Given the description of an element on the screen output the (x, y) to click on. 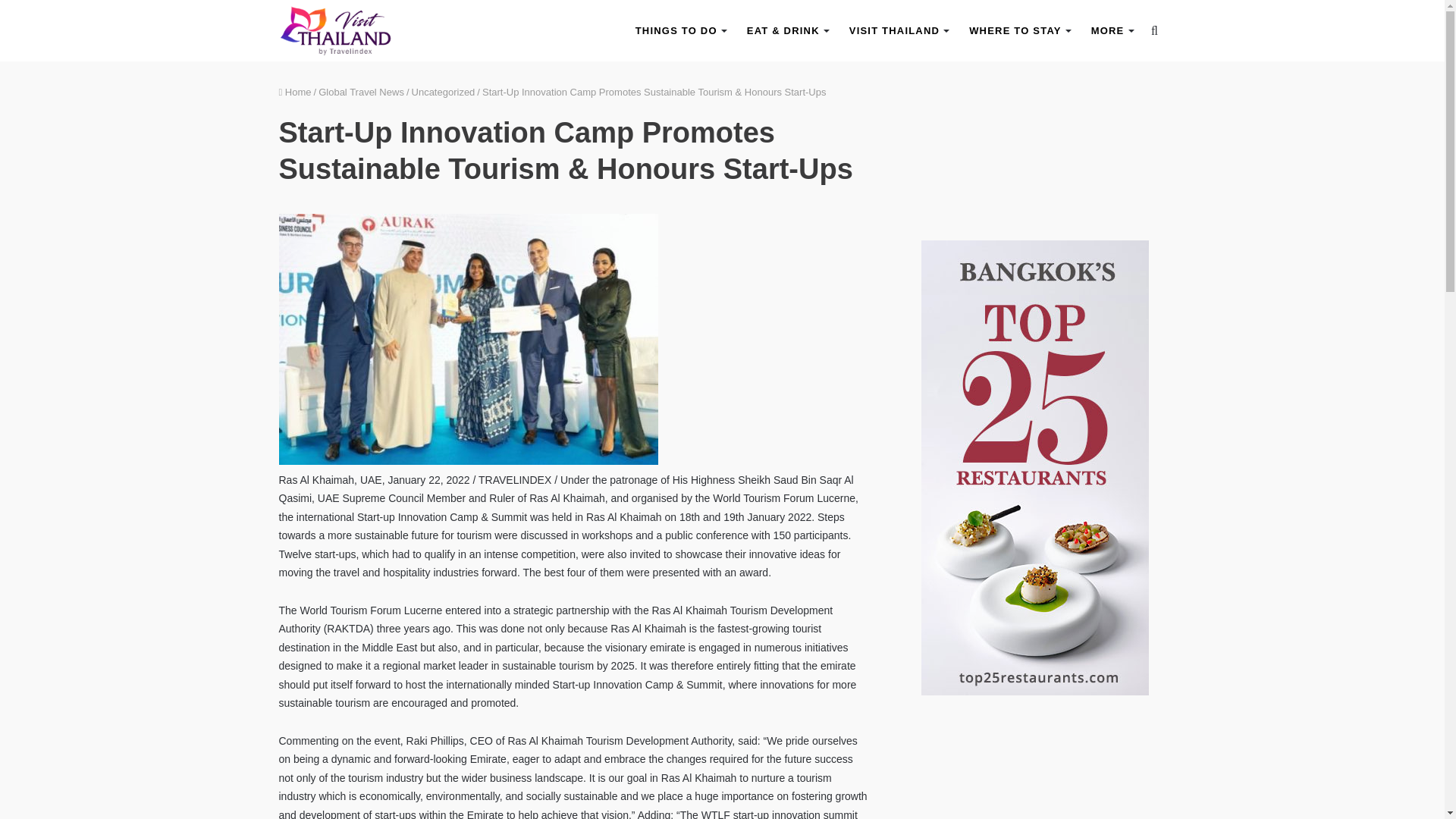
THINGS TO DO (680, 30)
Visit and Discover Thailand - VisitThailand.net (336, 30)
VISIT THAILAND (898, 30)
WHERE TO STAY (1019, 30)
Uncategorized (444, 91)
Global Travel News (361, 91)
MORE (1111, 30)
Home (295, 91)
